Given the description of an element on the screen output the (x, y) to click on. 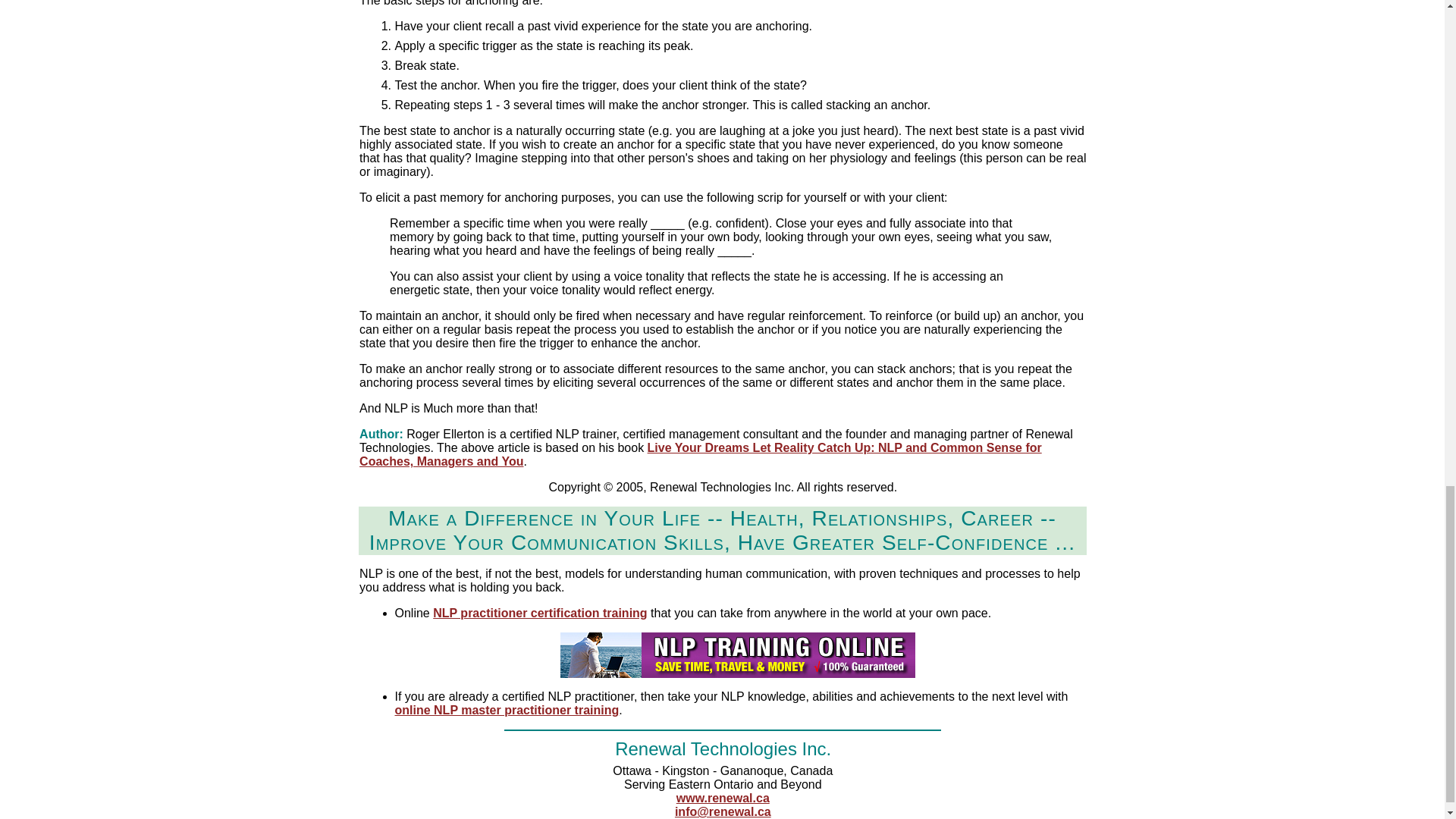
NLP practitioner certification training (539, 612)
online NLP master practitioner training (506, 709)
